Given the description of an element on the screen output the (x, y) to click on. 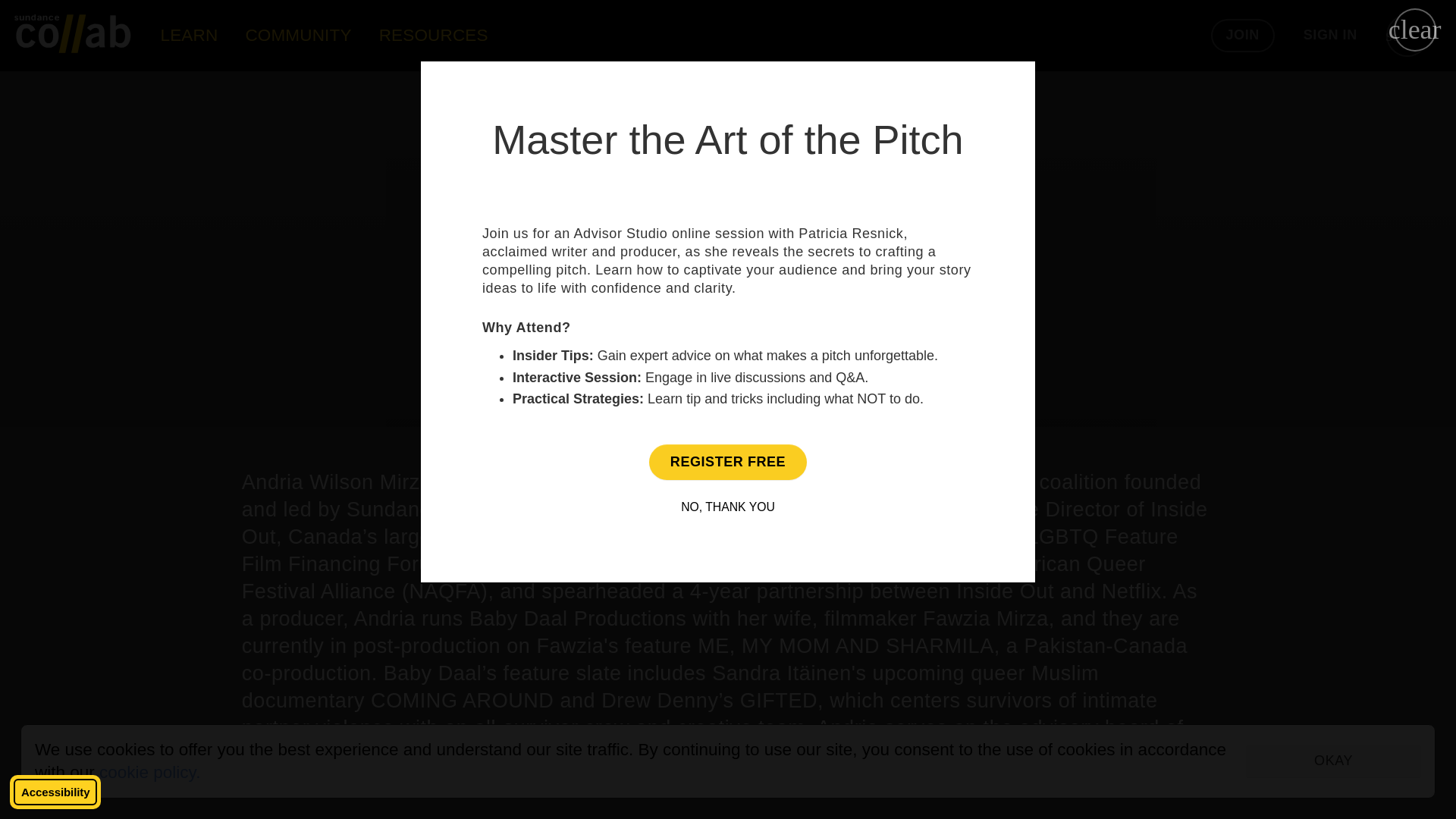
JOIN (1243, 35)
Search (1407, 35)
OKAY (1333, 761)
cookie policy. (149, 772)
RESOURCES (433, 35)
Accessibility Menu (55, 791)
LEARN (189, 35)
COMMUNITY (298, 35)
SIGN IN (1330, 35)
